Given the description of an element on the screen output the (x, y) to click on. 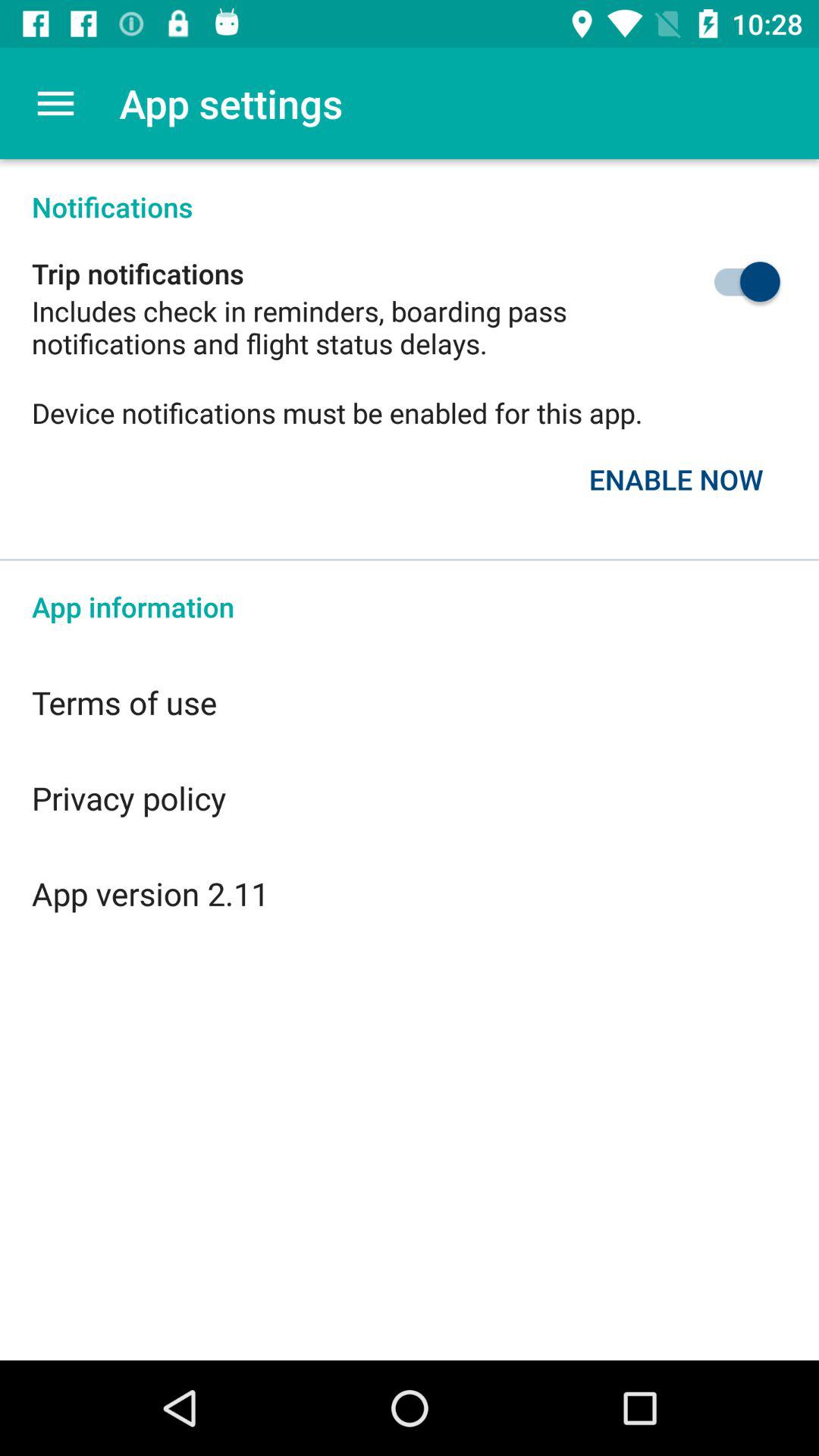
tap item above the device notifications must icon (711, 281)
